Given the description of an element on the screen output the (x, y) to click on. 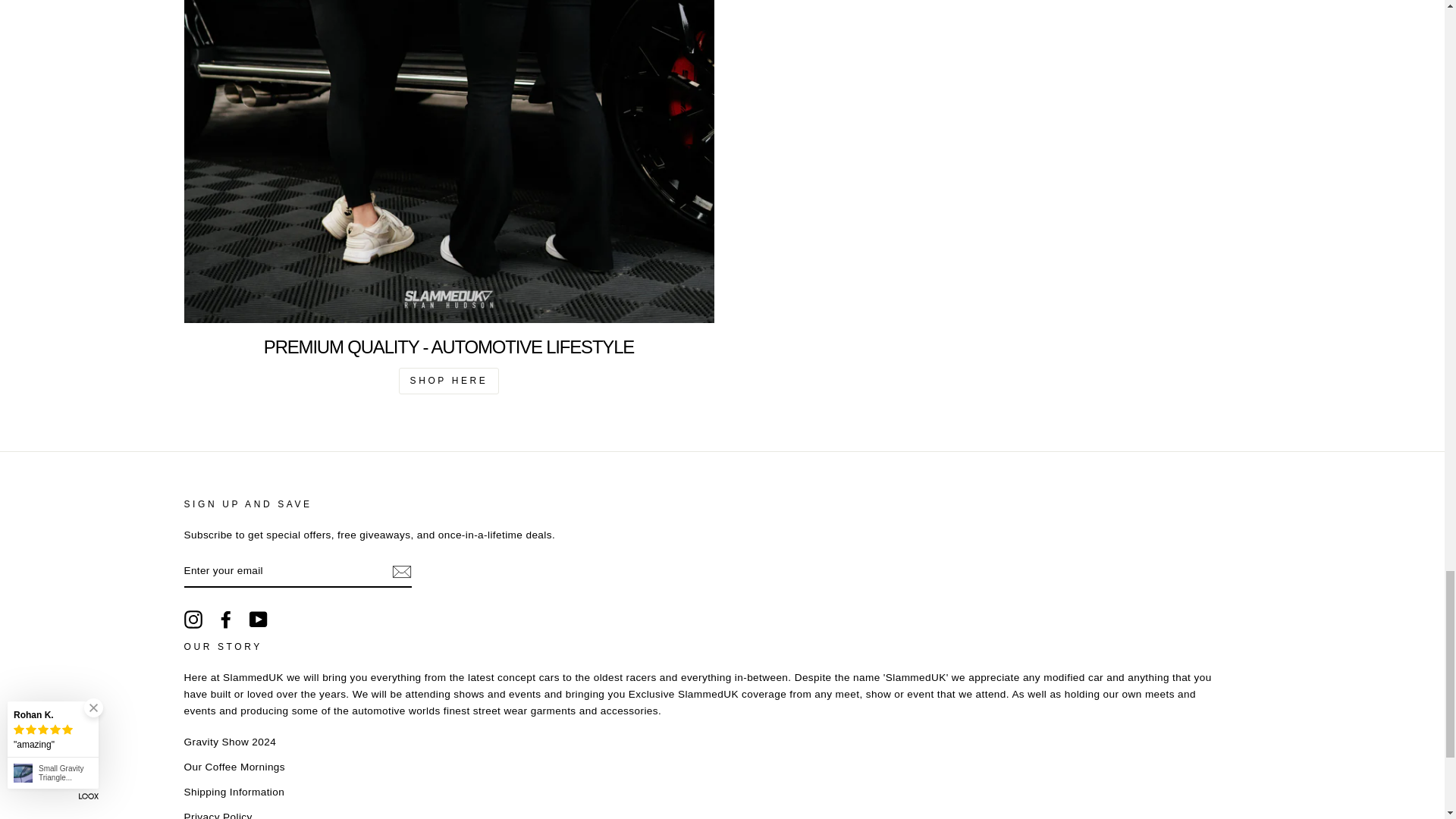
Slammed UK on YouTube (257, 619)
Slammed UK on Facebook (225, 619)
Slammed UK on Instagram (192, 619)
